Given the description of an element on the screen output the (x, y) to click on. 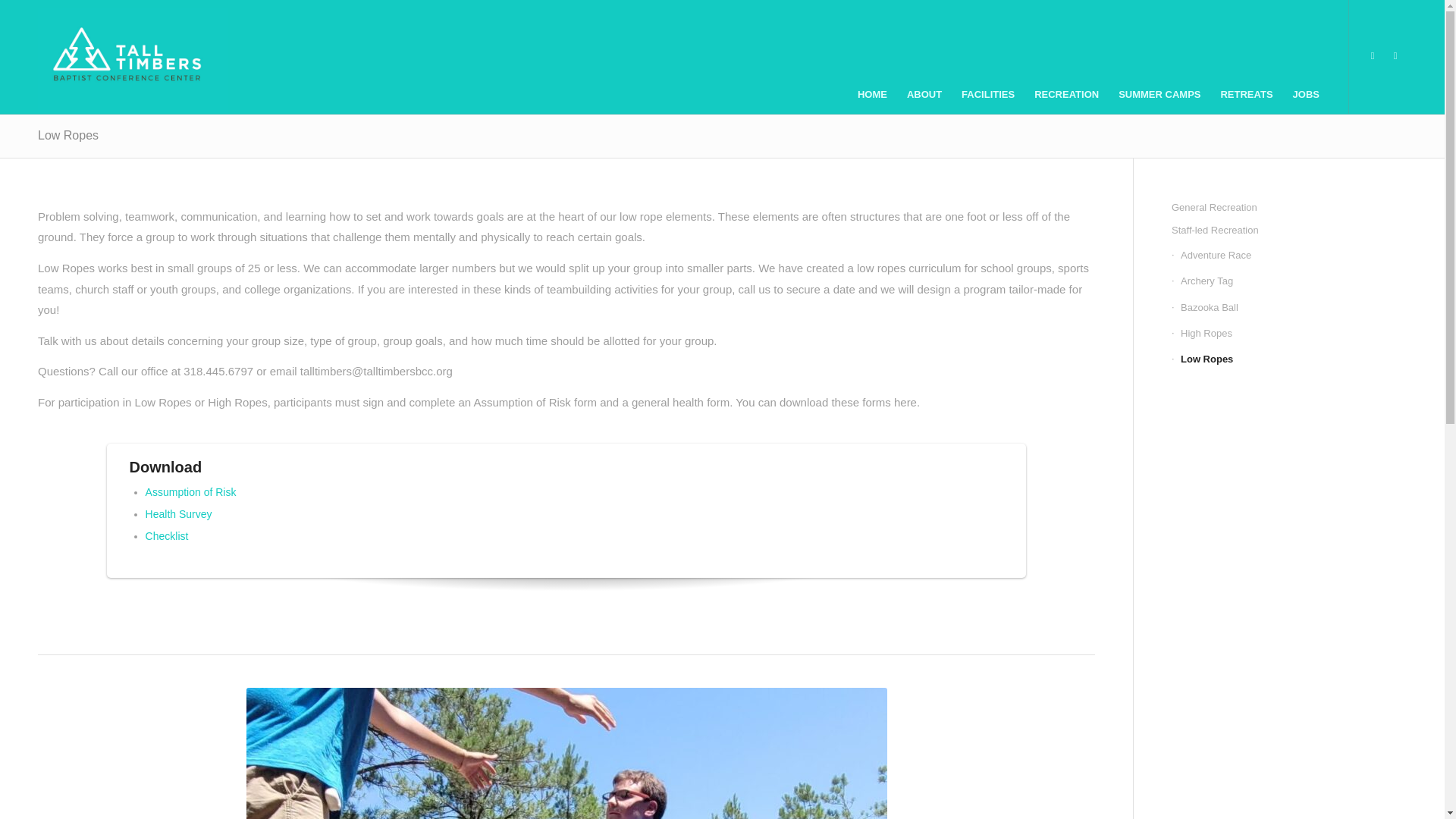
VNWY3596 (566, 753)
Instagram (1372, 56)
Facebook (1395, 56)
SUMMER CAMPS (1158, 56)
Permanent Link: Low Ropes (68, 134)
